Given the description of an element on the screen output the (x, y) to click on. 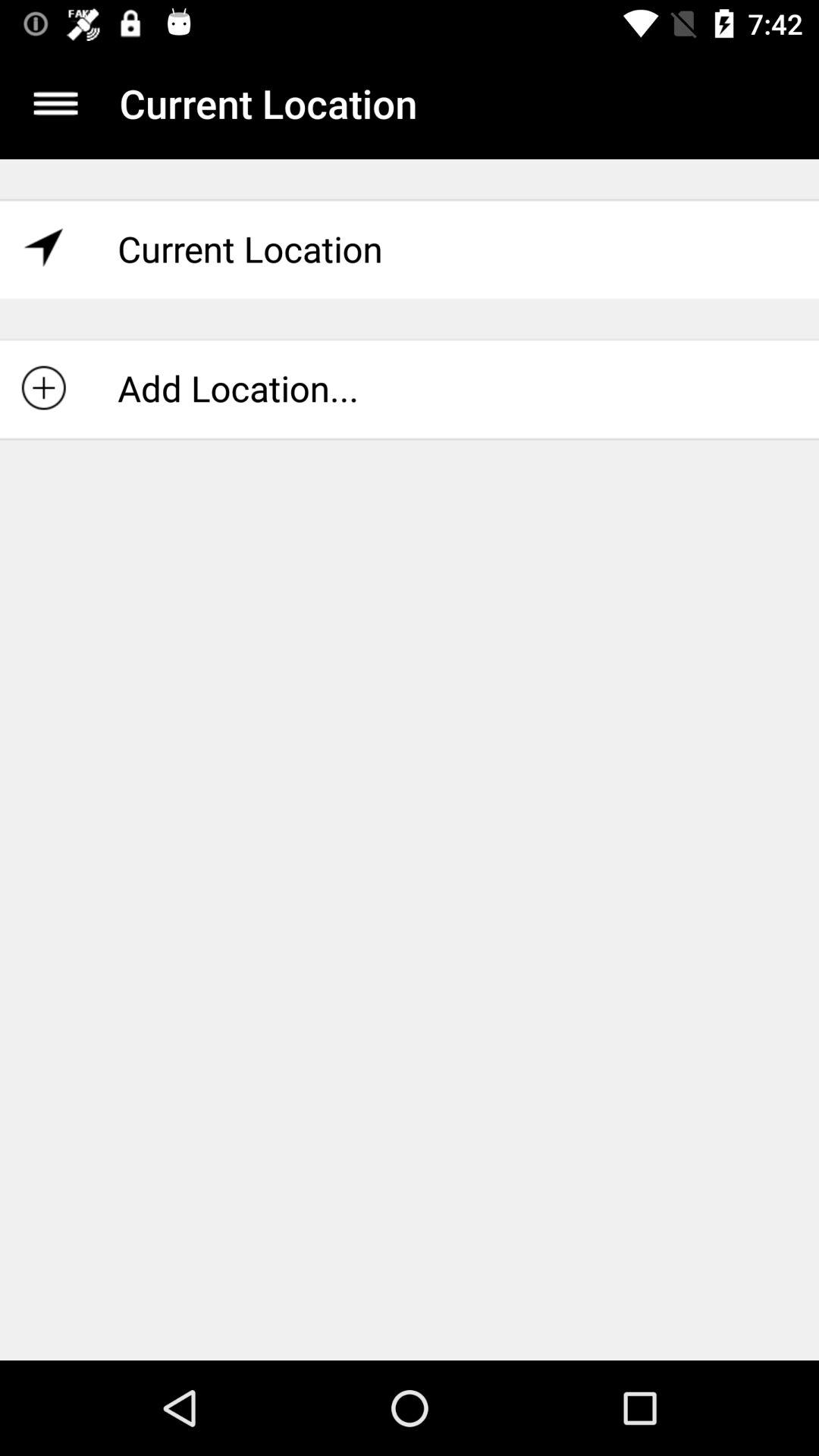
open the add location... icon (409, 387)
